Given the description of an element on the screen output the (x, y) to click on. 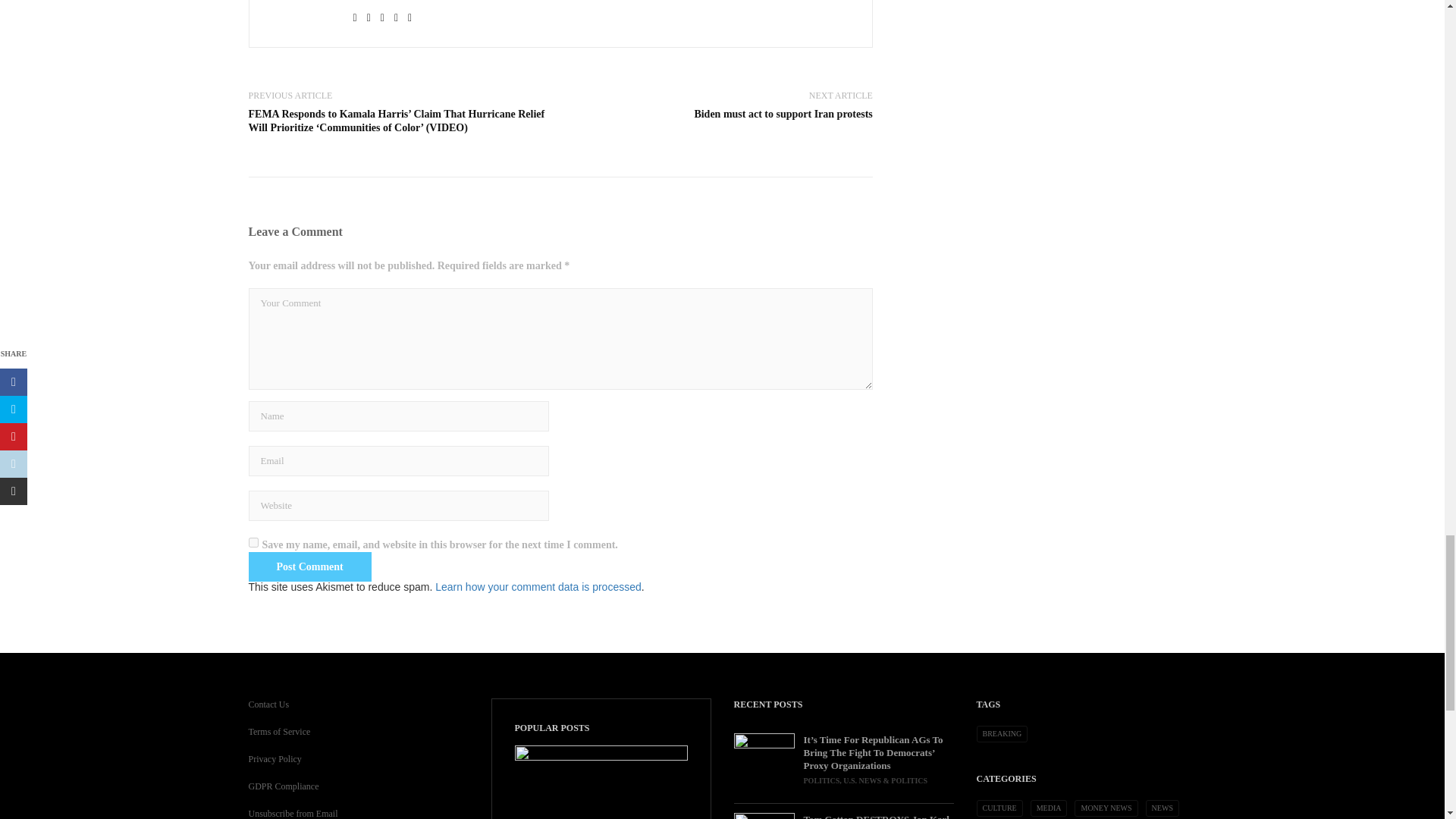
Biden must act to support Iran protests (783, 113)
Post Comment (309, 566)
Post Comment (309, 566)
yes (253, 542)
